Given the description of an element on the screen output the (x, y) to click on. 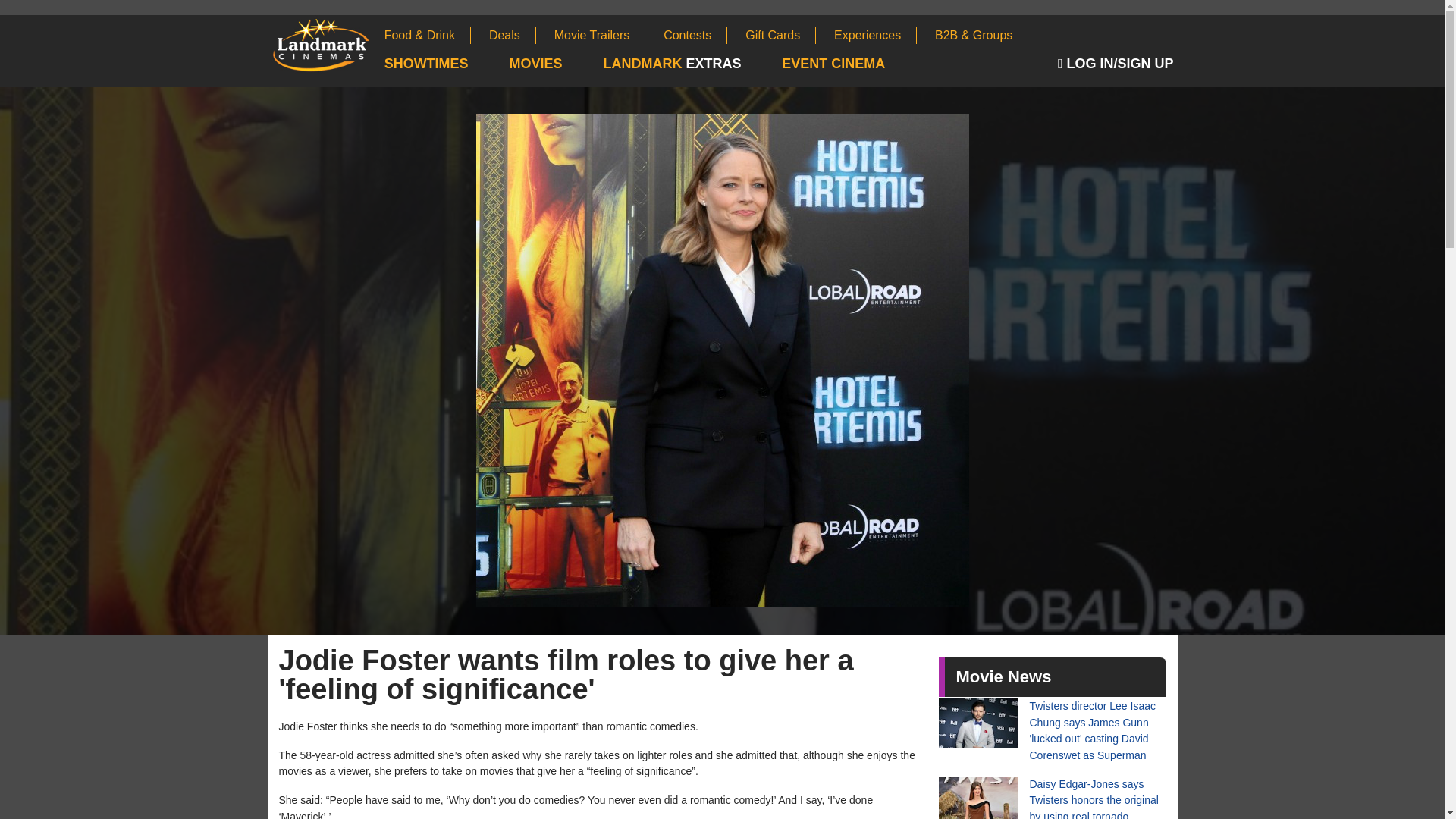
Browse Movie Deals (512, 35)
Buy Gift Cards (780, 35)
Check Local Showtimes (445, 64)
Event Cinema (852, 64)
EVENT CINEMA (852, 64)
Movie Contests (694, 35)
Contests (694, 35)
SHOWTIMES (445, 64)
Movie Experiences and PLF (875, 35)
LANDMARK EXTRAS (690, 64)
Watch Movie Trailers (600, 35)
Movie Trailers (600, 35)
Experiences (875, 35)
